Given the description of an element on the screen output the (x, y) to click on. 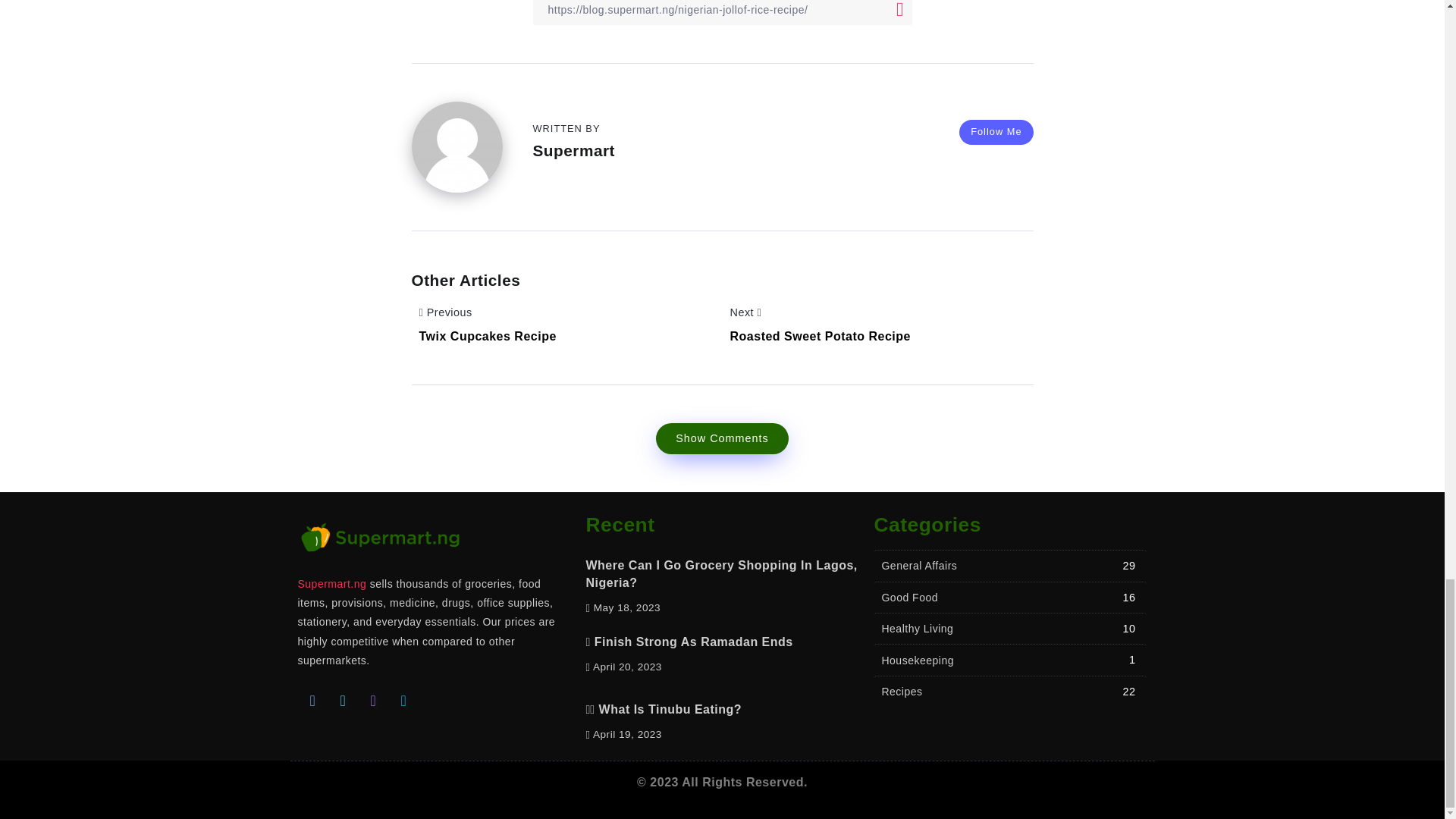
Facebook (312, 700)
Linkedin (403, 700)
Twitter (342, 700)
Where Can I Go Grocery Shopping In Lagos, Nigeria? (721, 573)
Instagram (373, 700)
